Given the description of an element on the screen output the (x, y) to click on. 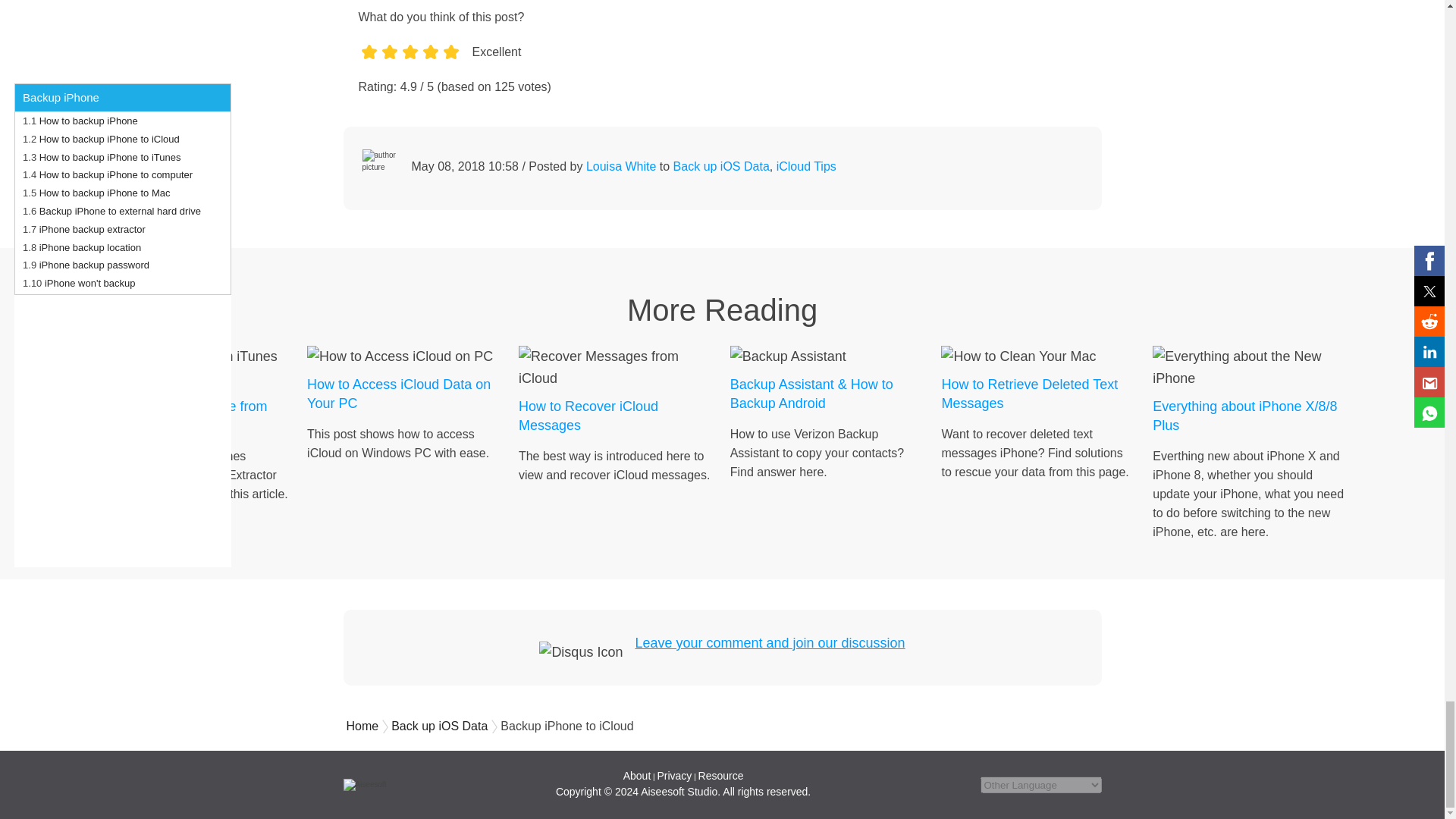
2 (388, 67)
4 (430, 67)
3 (408, 67)
1 (368, 67)
